Given the description of an element on the screen output the (x, y) to click on. 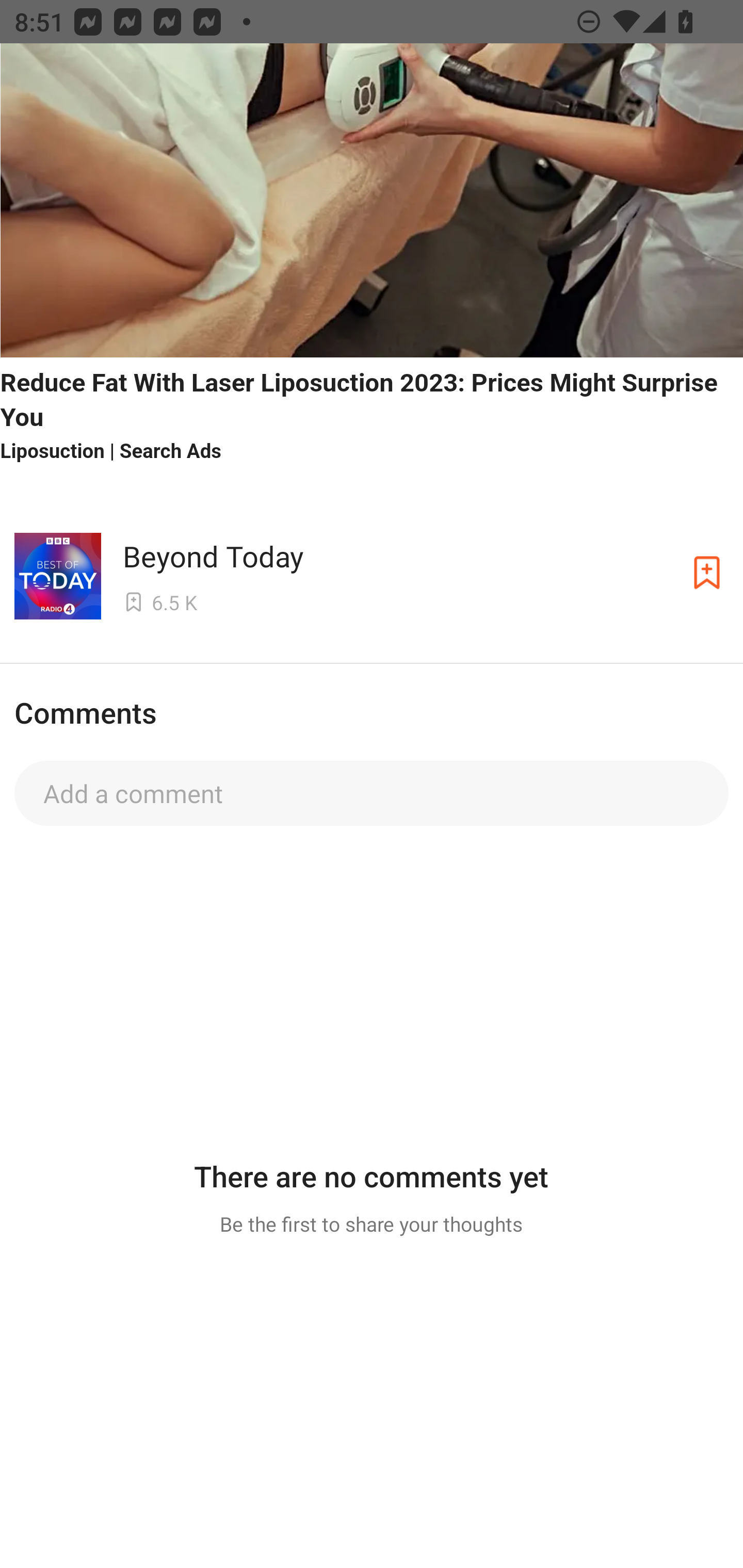
Image for Taboola Advertising Unit (371, 200)
Beyond Today  6.5 K Unsubscribe (371, 572)
Unsubscribe (706, 572)
Add a comment (371, 793)
